Given the description of an element on the screen output the (x, y) to click on. 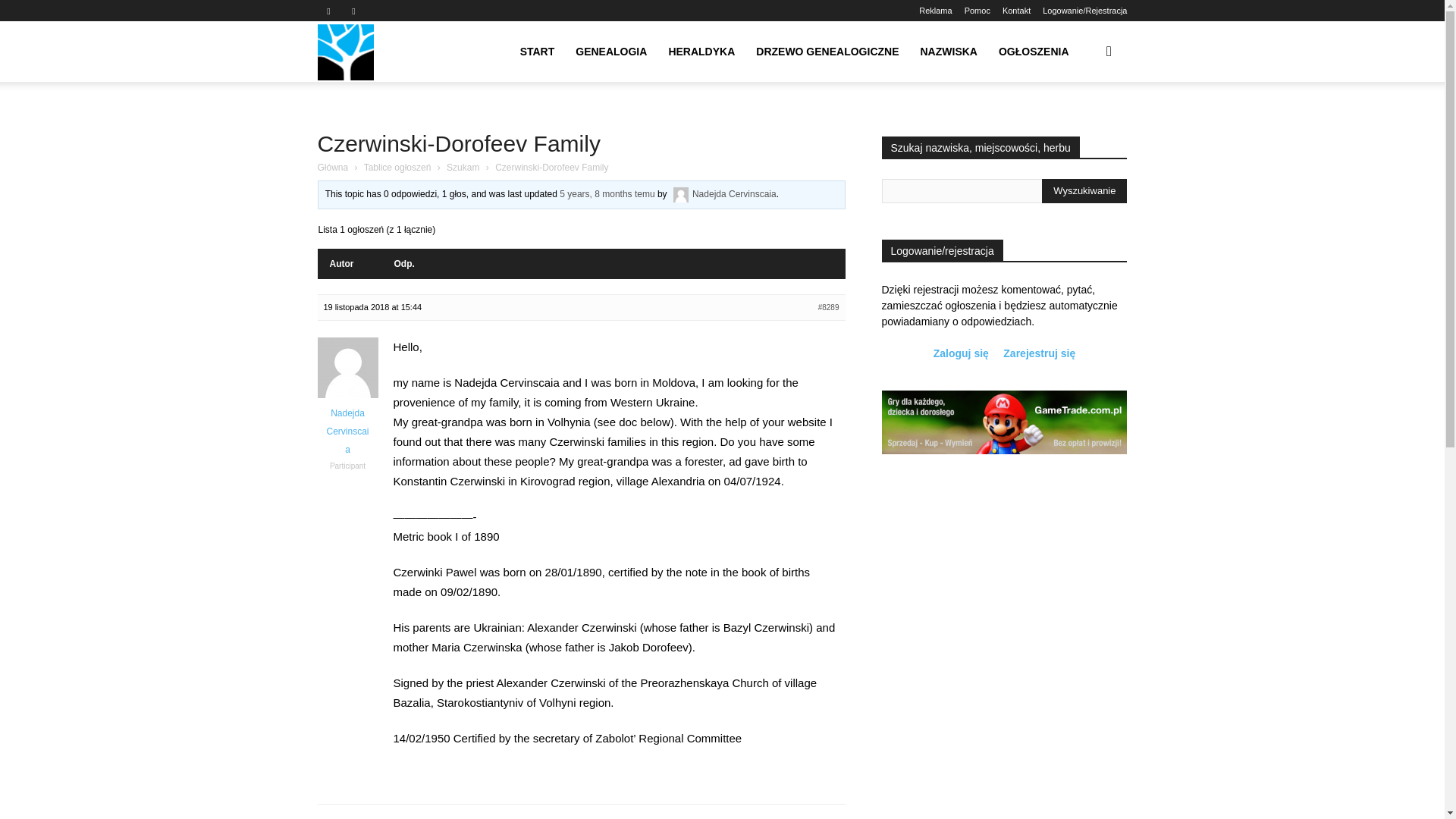
Reklama (935, 10)
Kontakt (1016, 10)
Drzewo genealogiczne Ornatowski.com (344, 52)
Facebook (328, 10)
Wyszukiwanie (1084, 191)
Twitter (353, 10)
Pomoc (976, 10)
Wyszukiwanie (1069, 124)
